Given the description of an element on the screen output the (x, y) to click on. 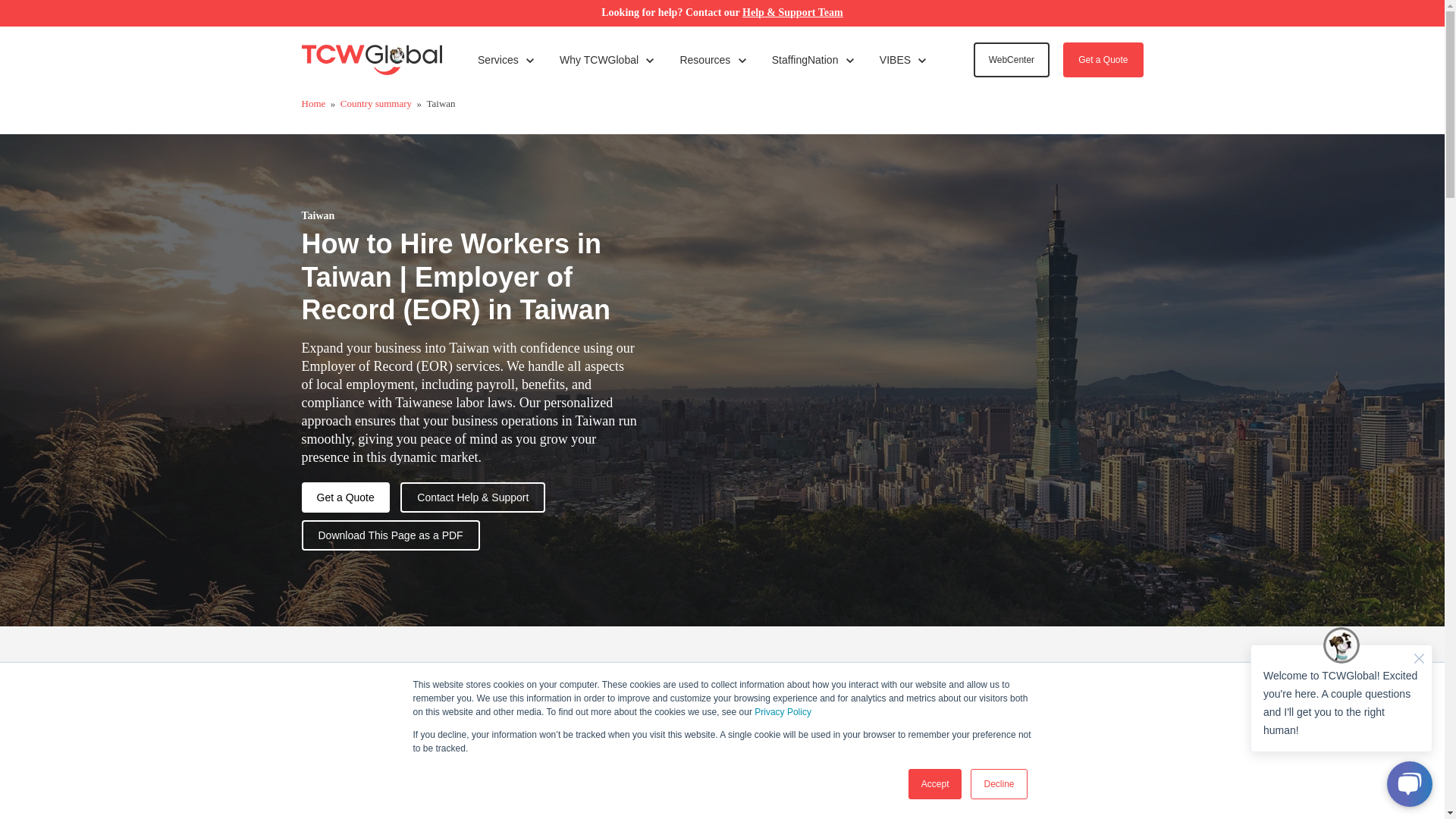
Privacy Policy (782, 711)
Understanding the Secrets of Global Payrolling (937, 376)
Accept (712, 60)
Decline (606, 60)
